Given the description of an element on the screen output the (x, y) to click on. 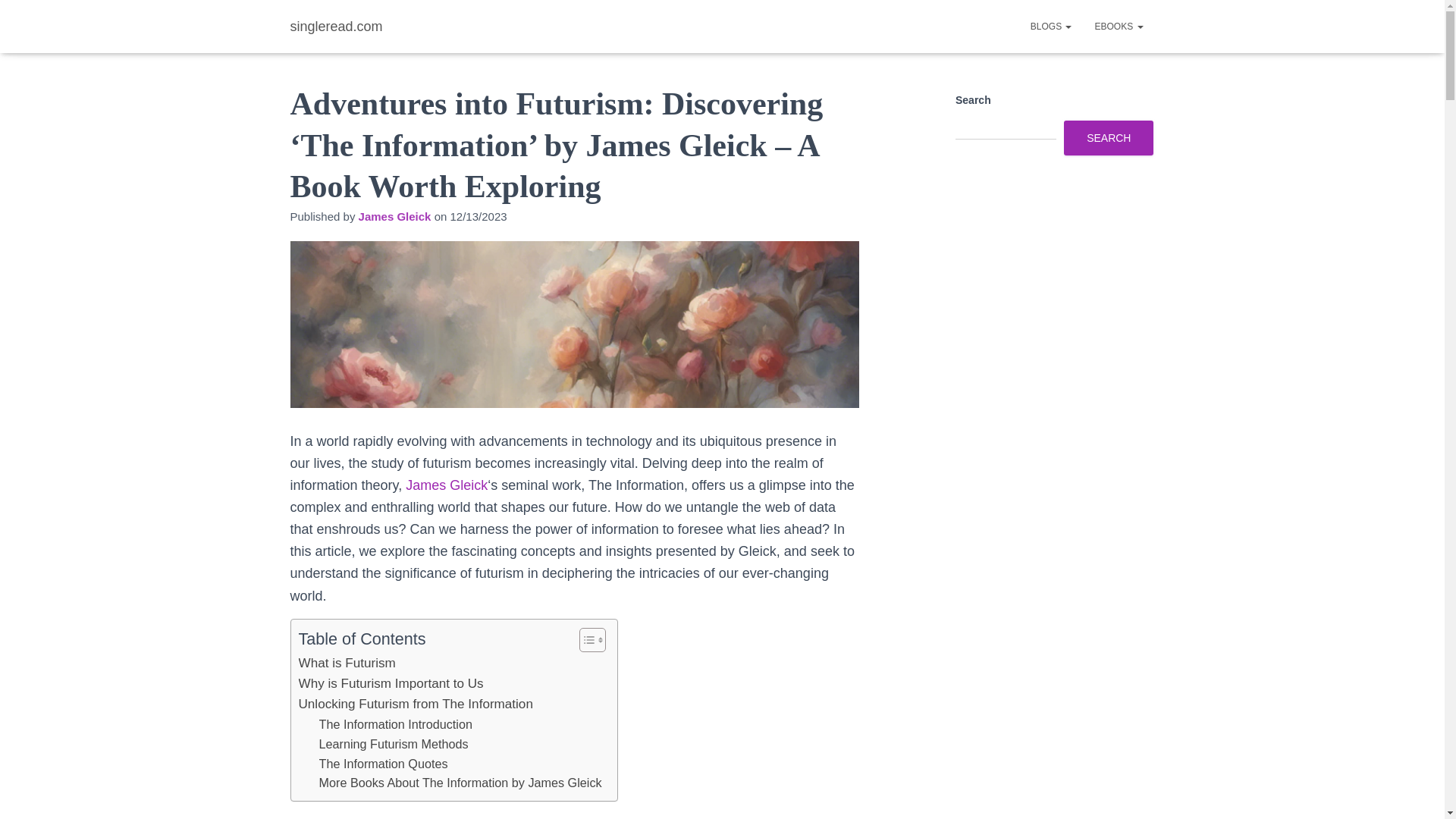
The Information Quotes (382, 763)
More Books About The Information by James Gleick (459, 783)
BLOGS (1051, 26)
Why is Futurism Important to Us (390, 683)
The Information Introduction (394, 724)
What is Futurism (347, 662)
James Gleick (394, 215)
Unlocking Futurism from The Information (415, 703)
James Gleick (446, 485)
singleread.com (336, 26)
EBOOKS (1118, 26)
singleread.com (336, 26)
Blogs (1051, 26)
Learning Futurism Methods (392, 744)
